Given the description of an element on the screen output the (x, y) to click on. 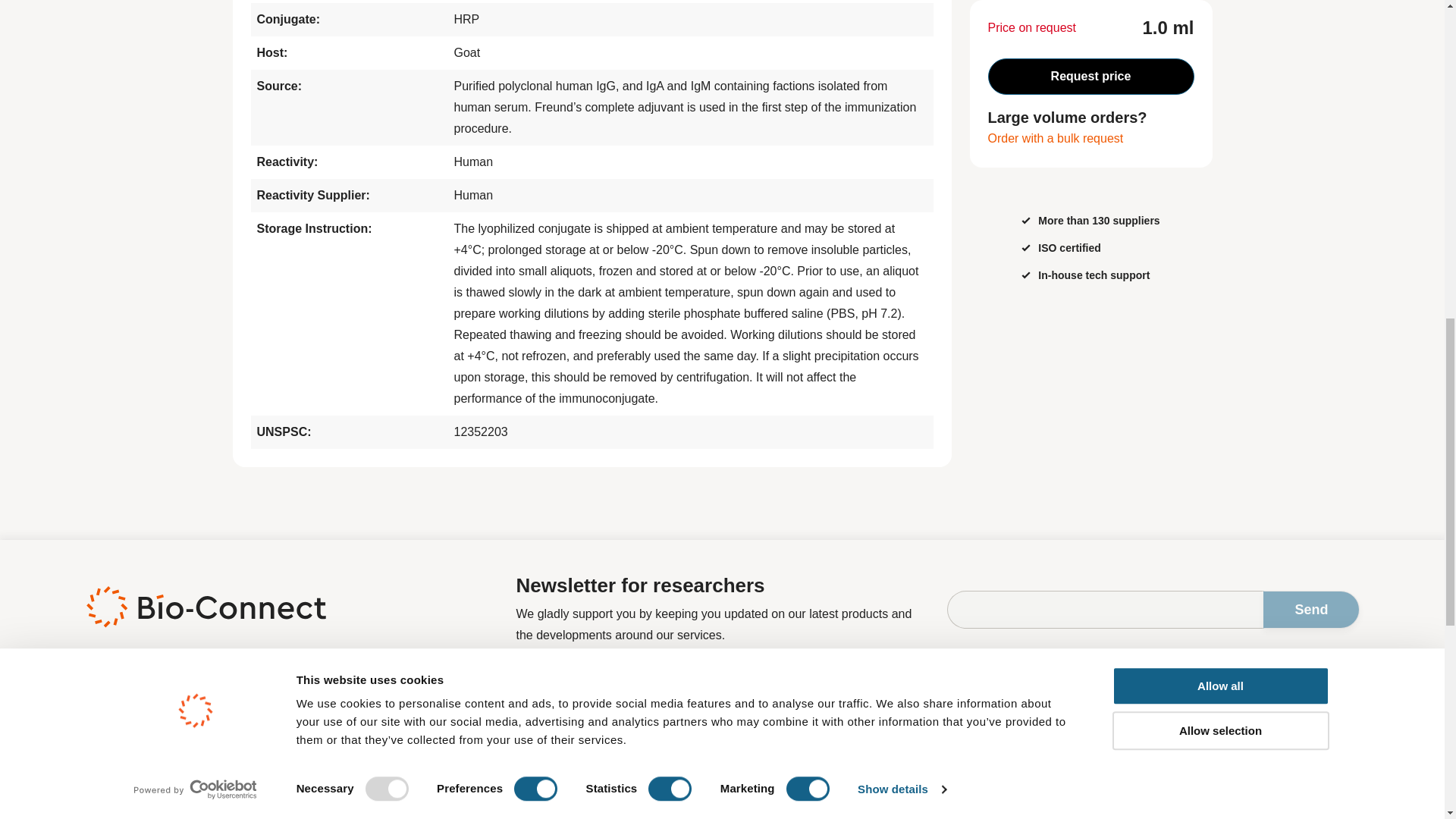
Bio-Connect (205, 606)
